Given the description of an element on the screen output the (x, y) to click on. 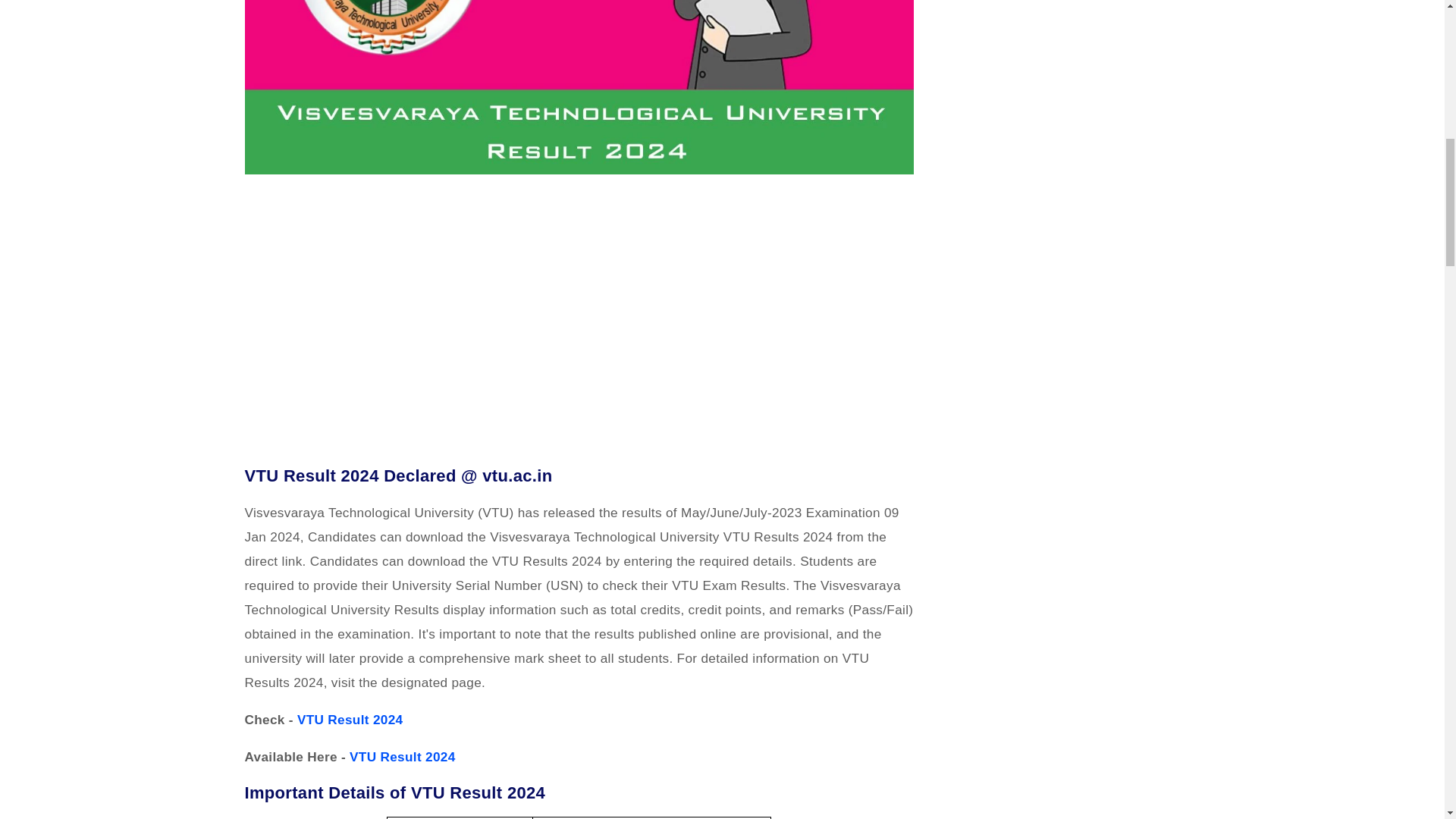
VTU Result 2024 (402, 756)
VTU Result 2024 (350, 719)
